Given the description of an element on the screen output the (x, y) to click on. 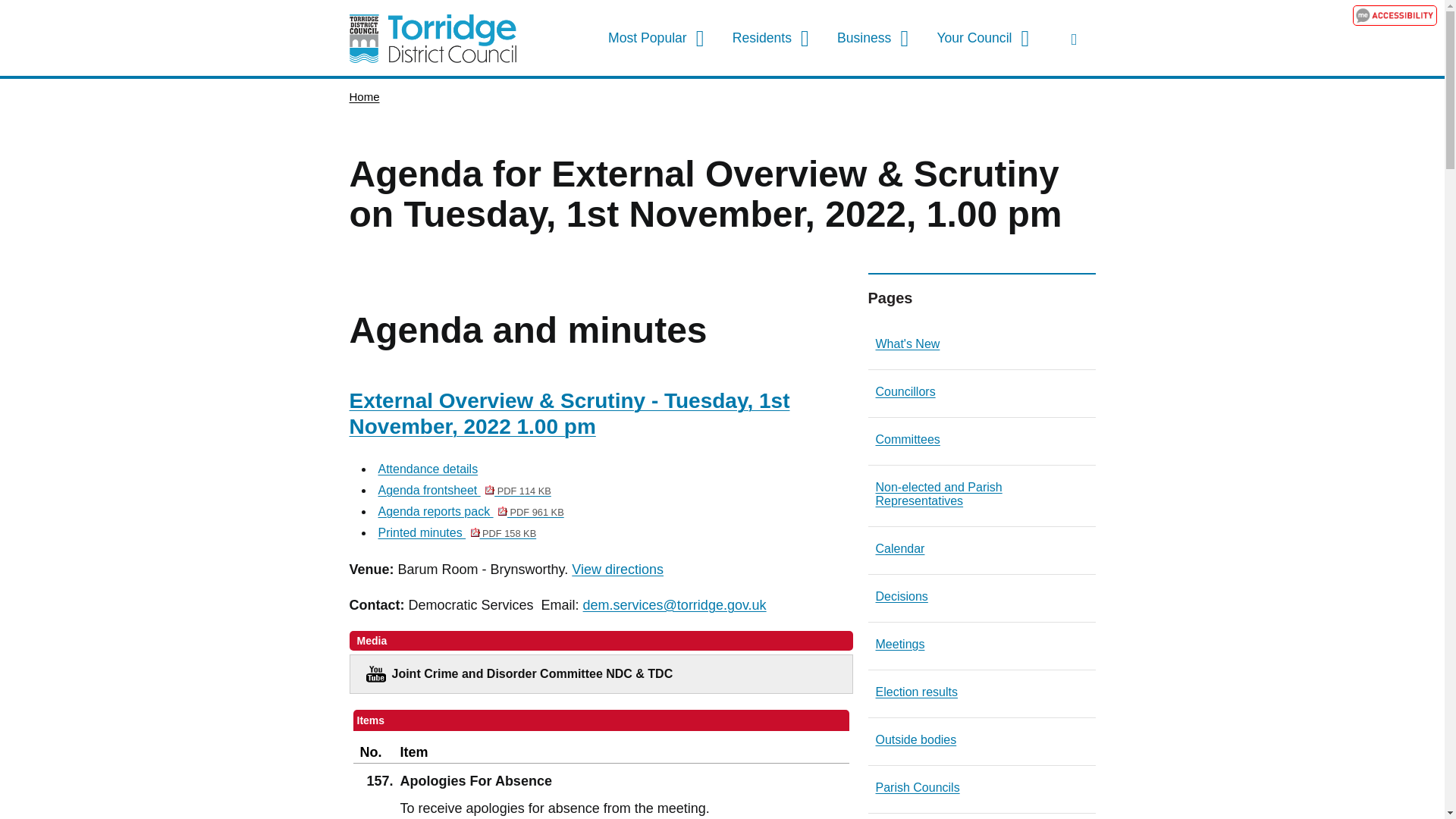
Link to agenda frontsheet pdf file (463, 491)
Skip to main content (11, 11)
Link to Non-elected and Parish Representatives (980, 495)
Most Popular (432, 38)
Link to directions to Barum Room - Brynsworthy (662, 39)
Link to register of decisions (617, 570)
Link to calendar of meetings (900, 598)
Link to printed minutes pdf file (899, 550)
Link to election results (456, 534)
